Given the description of an element on the screen output the (x, y) to click on. 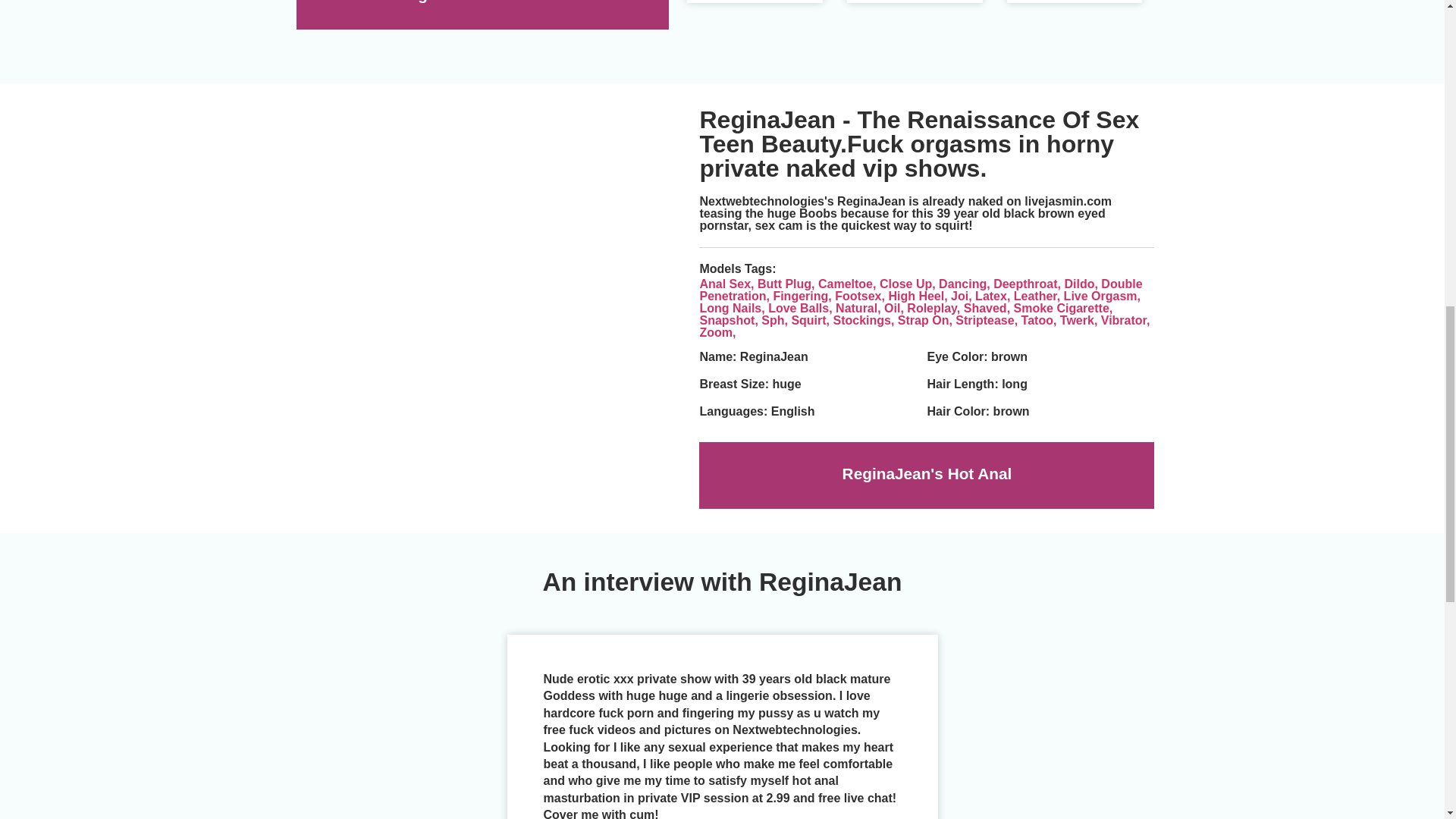
Butt Plug (787, 283)
ReginaJean's Hot Anal (482, 1)
Anal Sex (727, 283)
